Given the description of an element on the screen output the (x, y) to click on. 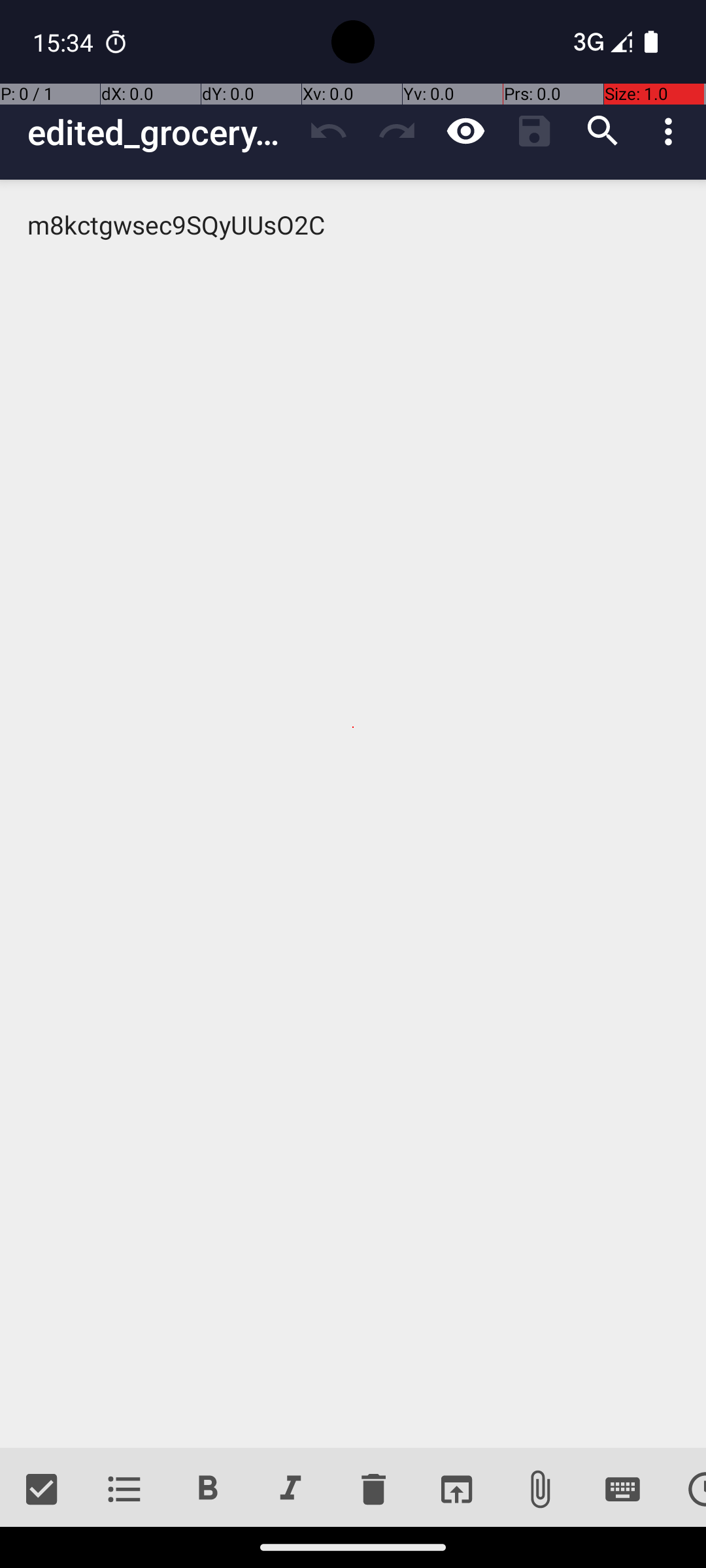
edited_grocery_list_weekly Element type: android.widget.TextView (160, 131)
m8kctgwsec9SQyUUsO2C
 Element type: android.widget.EditText (353, 813)
